Given the description of an element on the screen output the (x, y) to click on. 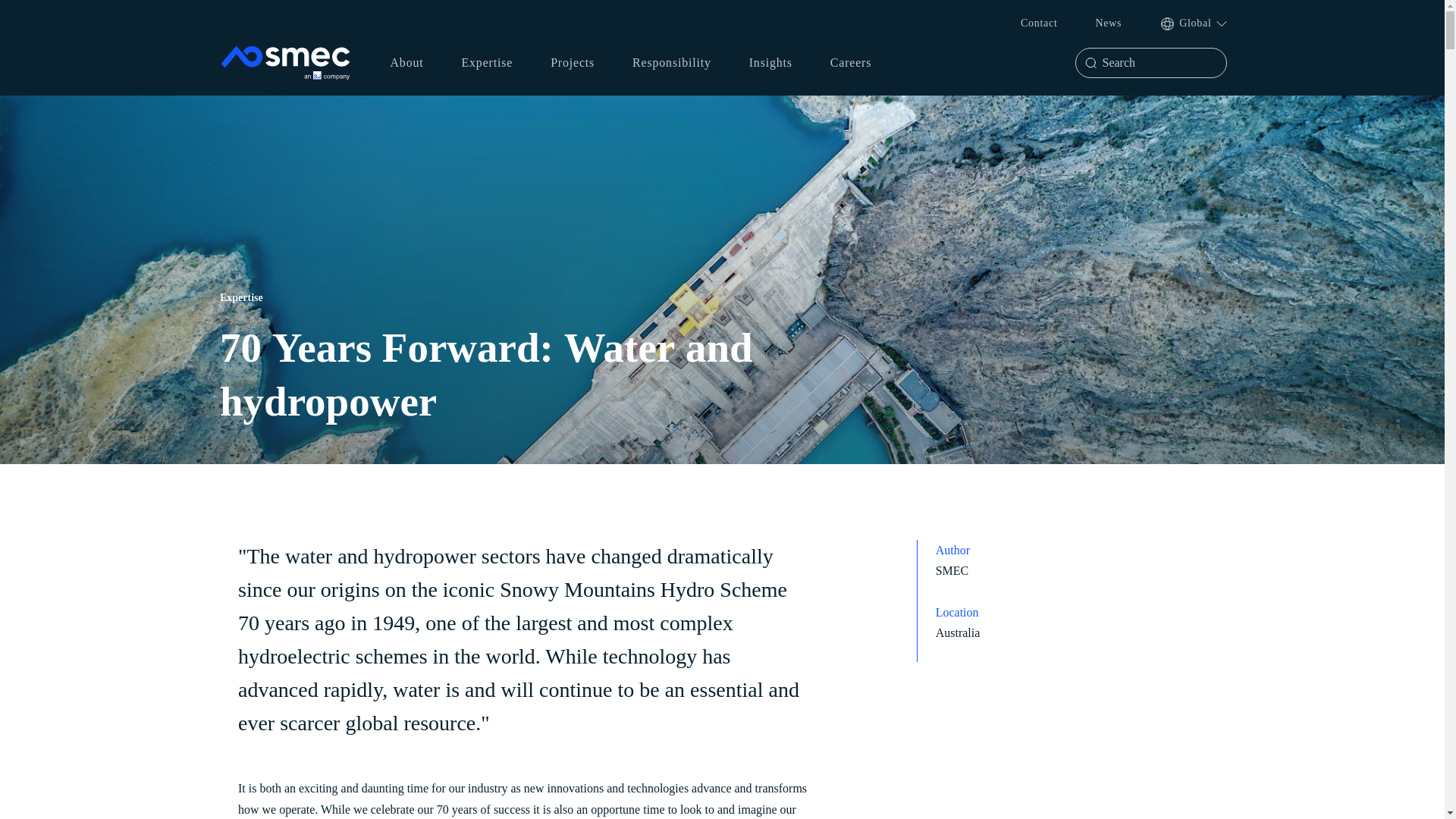
Insights (770, 62)
News (1109, 23)
Contact (1038, 23)
Projects (571, 62)
